Given the description of an element on the screen output the (x, y) to click on. 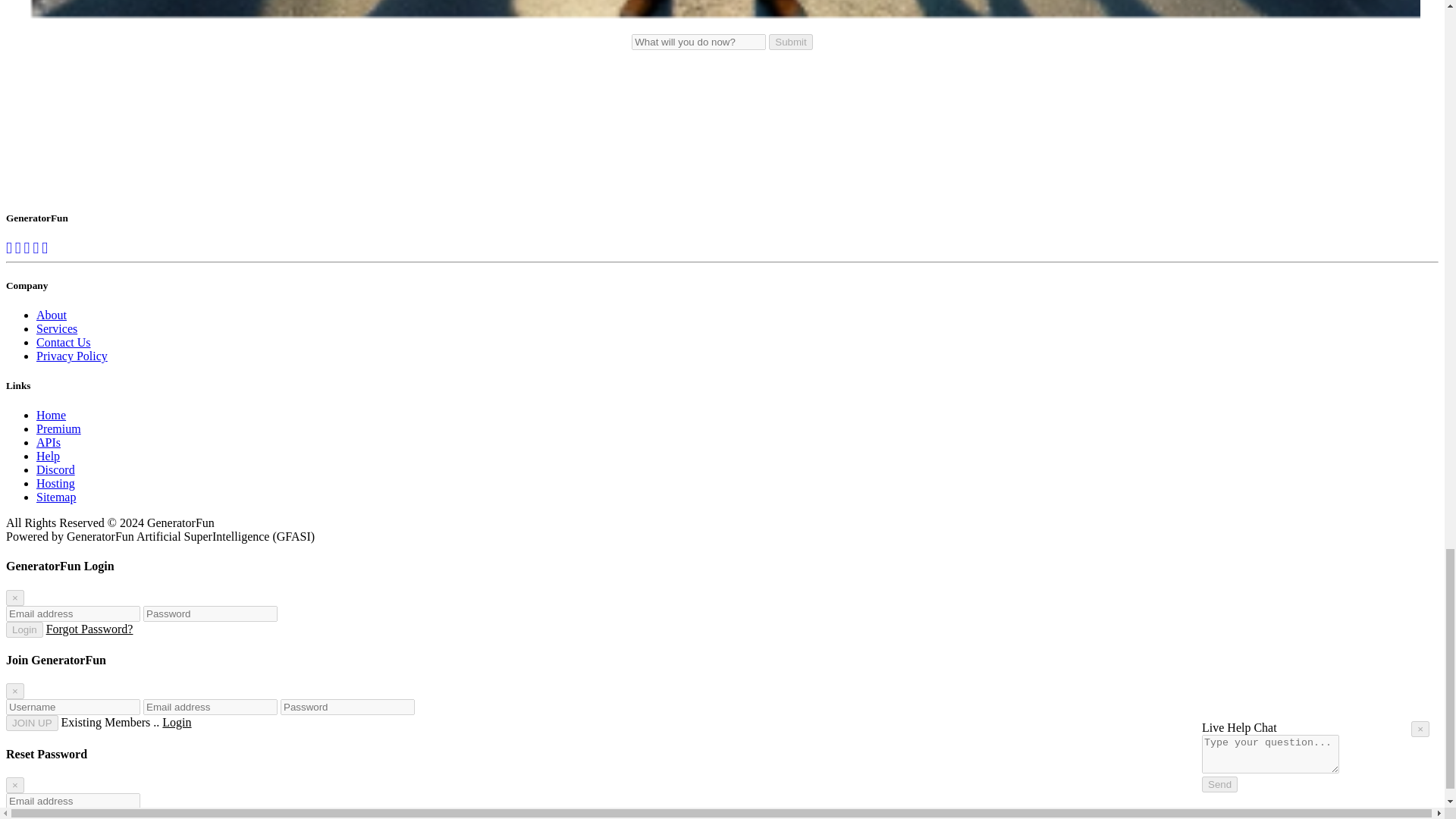
Privacy Policy (71, 355)
Services (56, 328)
Login (24, 629)
Submit (790, 41)
Forgot Password? (89, 628)
APIs (48, 441)
Sitemap (55, 496)
Discord (55, 469)
About (51, 314)
Help (47, 455)
